Given the description of an element on the screen output the (x, y) to click on. 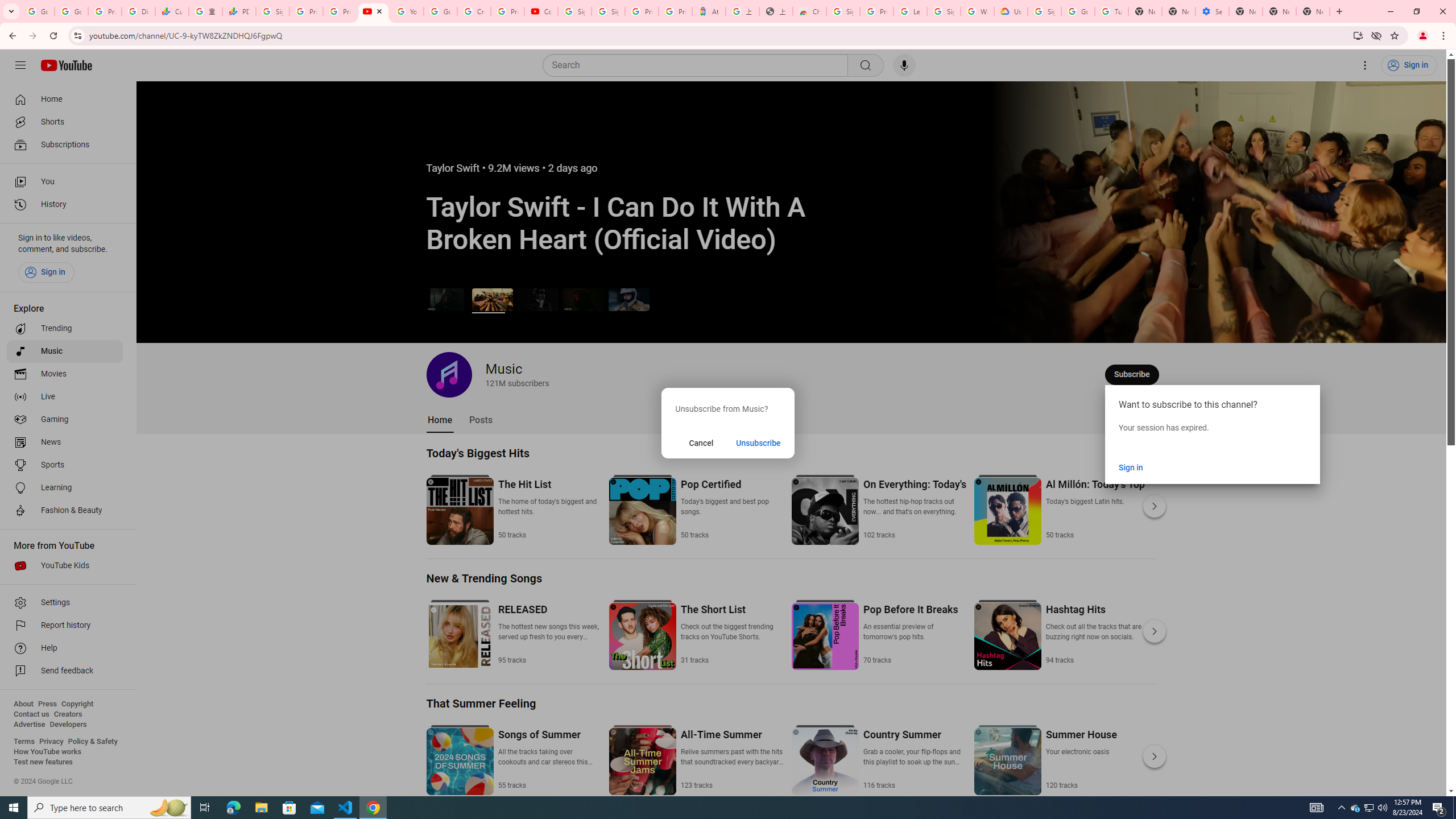
Live (64, 396)
Music (64, 350)
Content Creator Programs & Opportunities - YouTube Creators (541, 11)
Report history (64, 625)
History (64, 204)
Sign in - Google Accounts (272, 11)
